Given the description of an element on the screen output the (x, y) to click on. 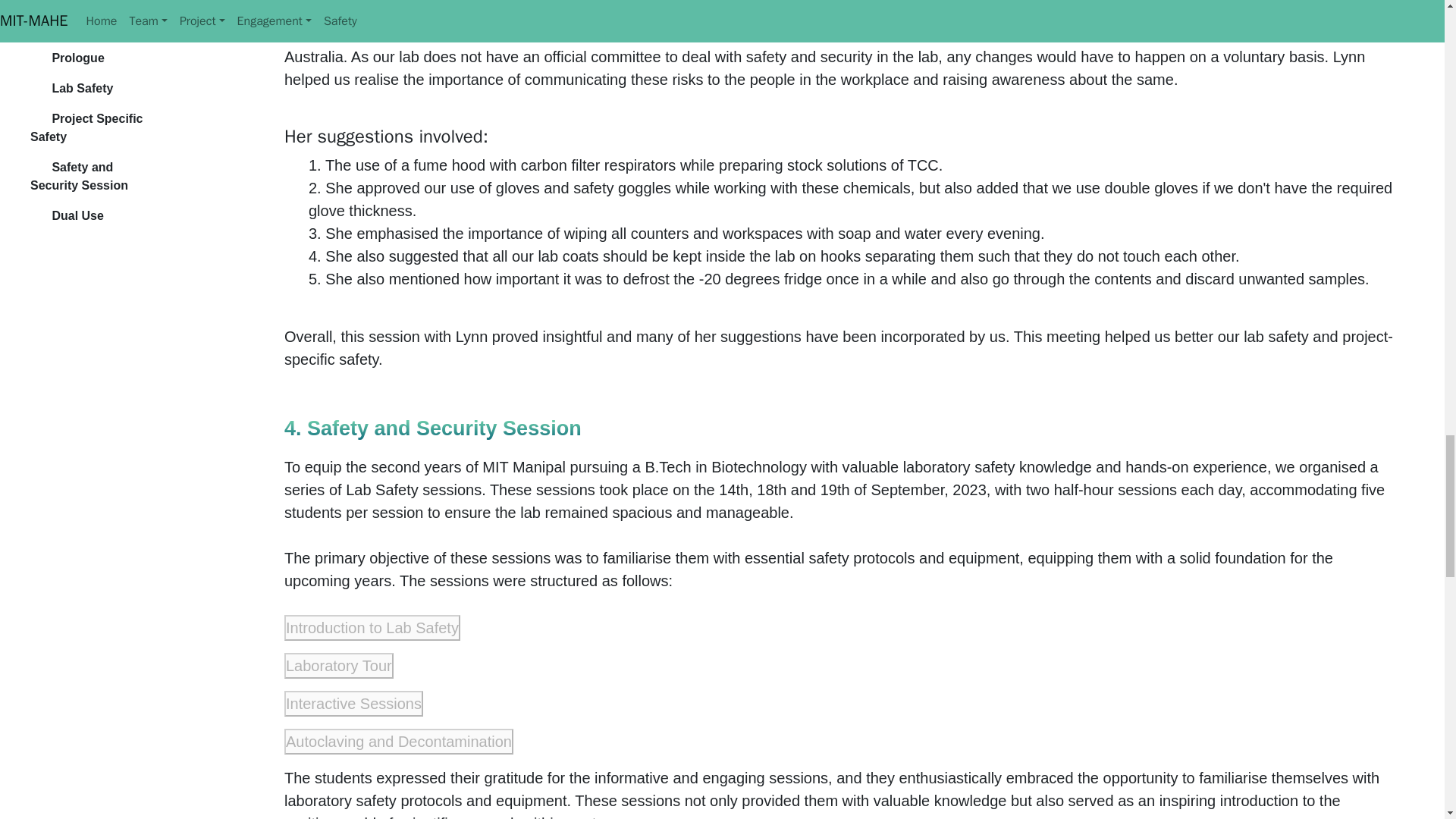
Autoclaving and Decontamination (398, 741)
Laboratory Tour (338, 665)
Interactive Sessions (353, 703)
Introduction to Lab Safety (371, 627)
